Given the description of an element on the screen output the (x, y) to click on. 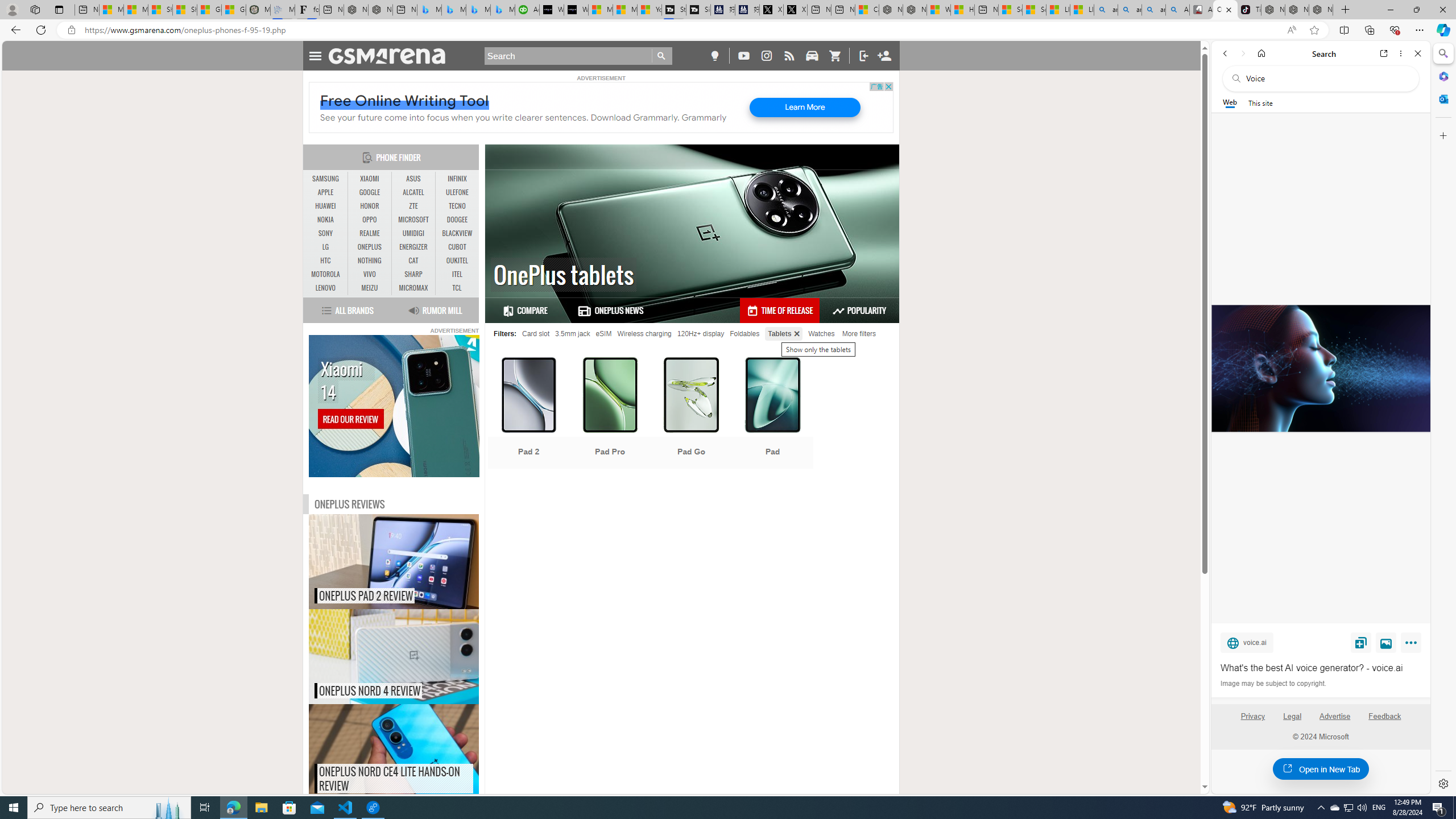
TECNO (457, 206)
Go (662, 55)
3.5mm jack (571, 333)
MICROMAX (413, 287)
UMIDIGI (413, 233)
UMIDIGI (413, 233)
OPPO (369, 219)
LENOVO (325, 287)
